Given the description of an element on the screen output the (x, y) to click on. 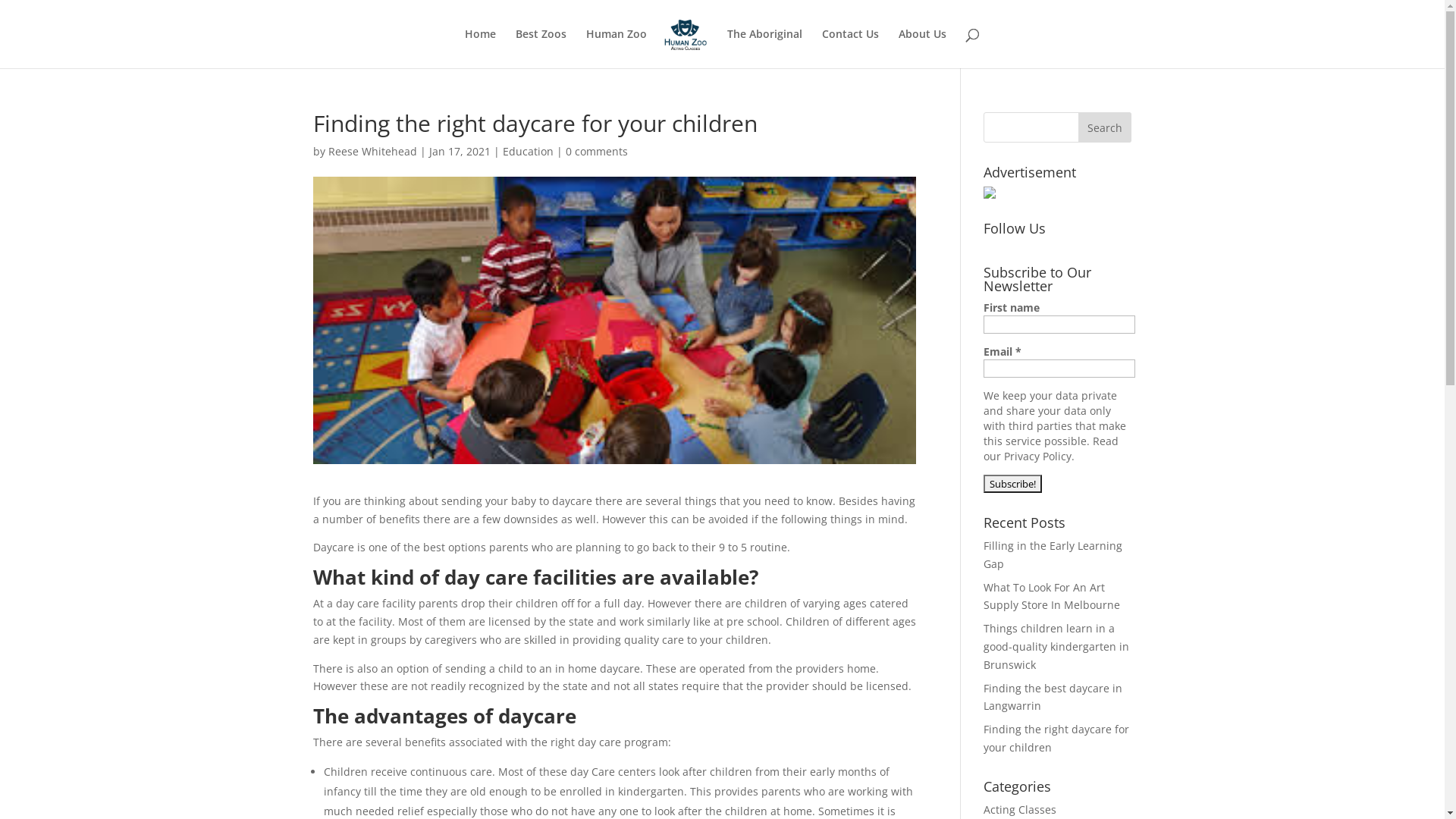
Education Element type: text (527, 151)
Finding the right daycare for your children Element type: text (1056, 737)
Read our Privacy Policy. Element type: text (1050, 448)
Human Zoo Element type: text (616, 48)
0 comments Element type: text (596, 151)
Finding the best daycare in Langwarrin Element type: text (1052, 696)
Acting Classes Element type: text (1019, 809)
Reese Whitehead Element type: text (371, 151)
First name Element type: hover (1059, 324)
What To Look For An Art Supply Store In Melbourne Element type: text (1051, 596)
Subscribe! Element type: text (1012, 483)
Filling in the Early Learning Gap Element type: text (1052, 554)
Email Element type: hover (1059, 368)
Contact Us Element type: text (850, 48)
The Aboriginal Element type: text (764, 48)
Search Element type: text (1104, 127)
Best Zoos Element type: text (540, 48)
About Us Element type: text (922, 48)
Home Element type: text (479, 48)
